Given the description of an element on the screen output the (x, y) to click on. 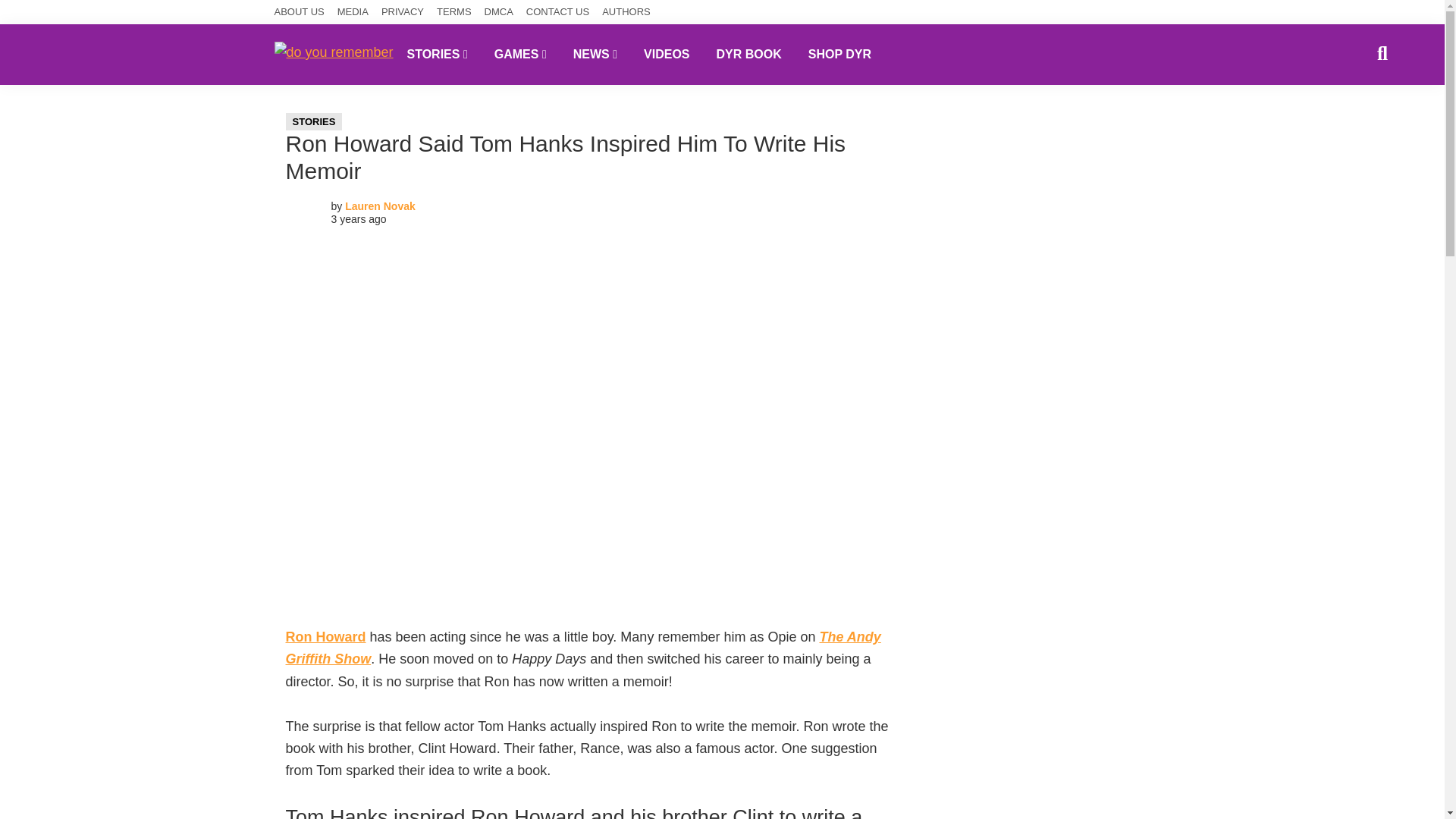
GAMES (520, 54)
ABOUT US (299, 12)
DMCA (498, 12)
STORIES (314, 121)
Ron Howard (325, 636)
The Andy Griffith Show (582, 647)
VIDEOS (665, 54)
NEWS (595, 54)
MEDIA (352, 12)
Lauren Novak (379, 205)
PRIVACY (402, 12)
STORIES (437, 54)
DYR BOOK (748, 54)
CONTACT US (557, 12)
